Given the description of an element on the screen output the (x, y) to click on. 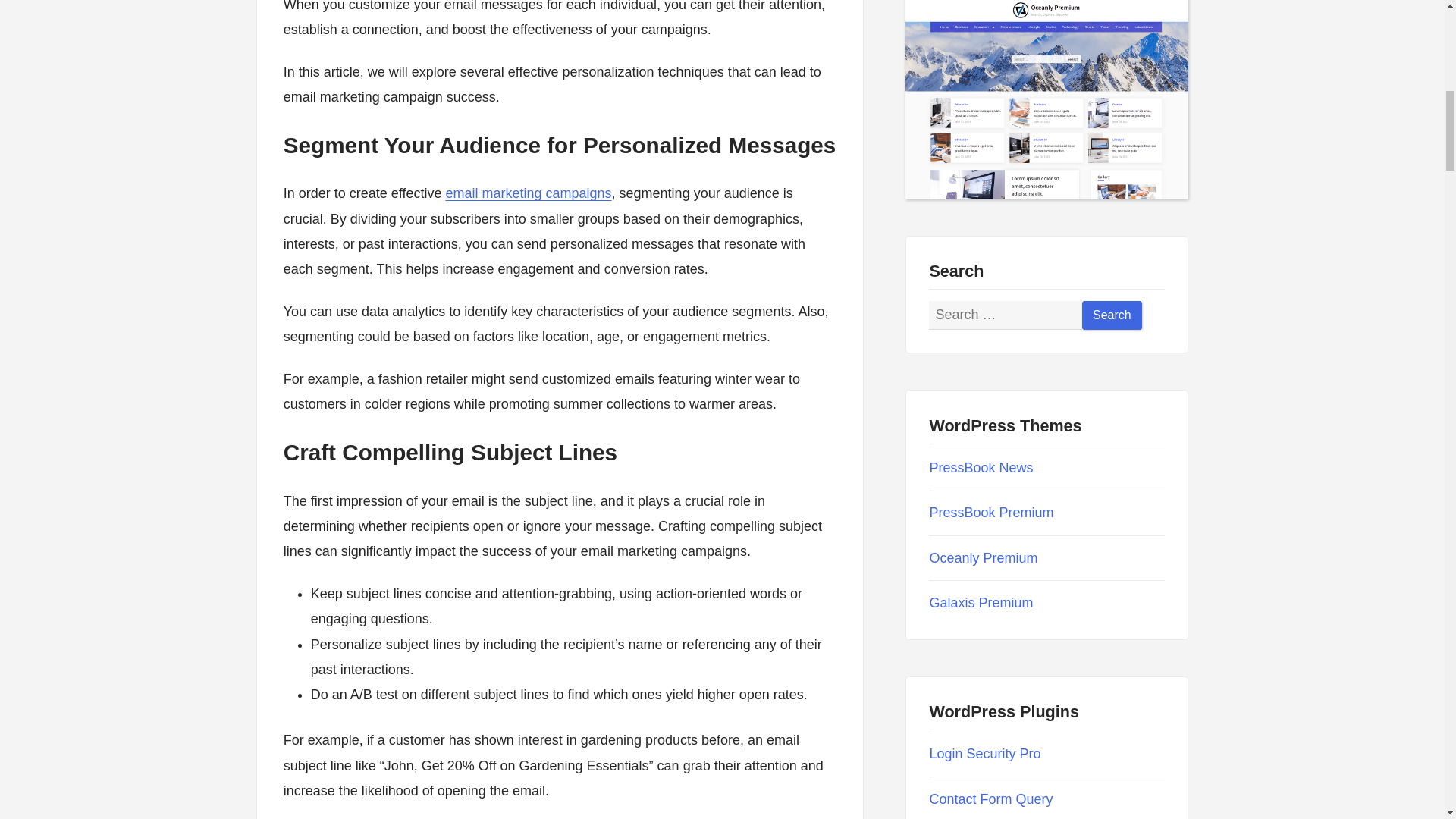
Search (1111, 315)
email marketing campaigns (528, 192)
Search (1111, 315)
